Given the description of an element on the screen output the (x, y) to click on. 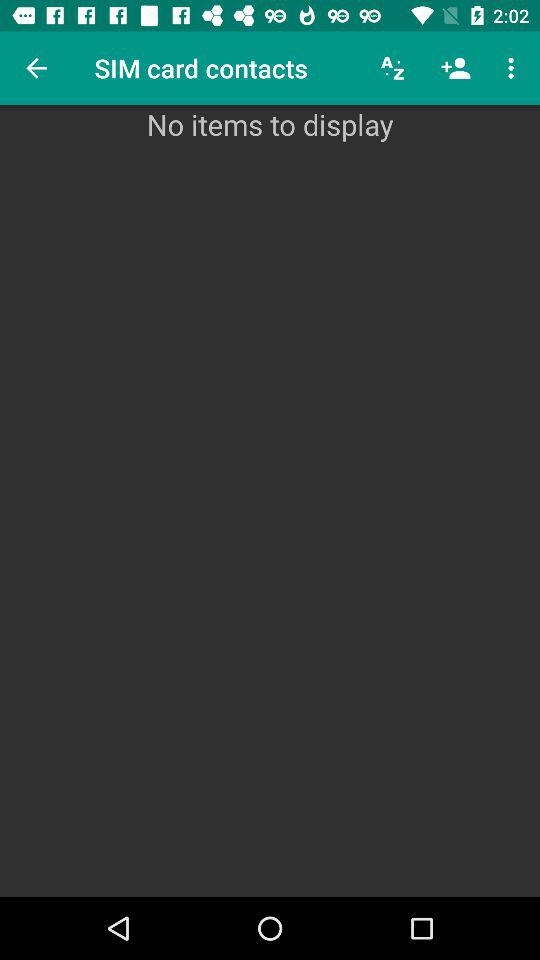
open the icon above no items to (513, 67)
